Given the description of an element on the screen output the (x, y) to click on. 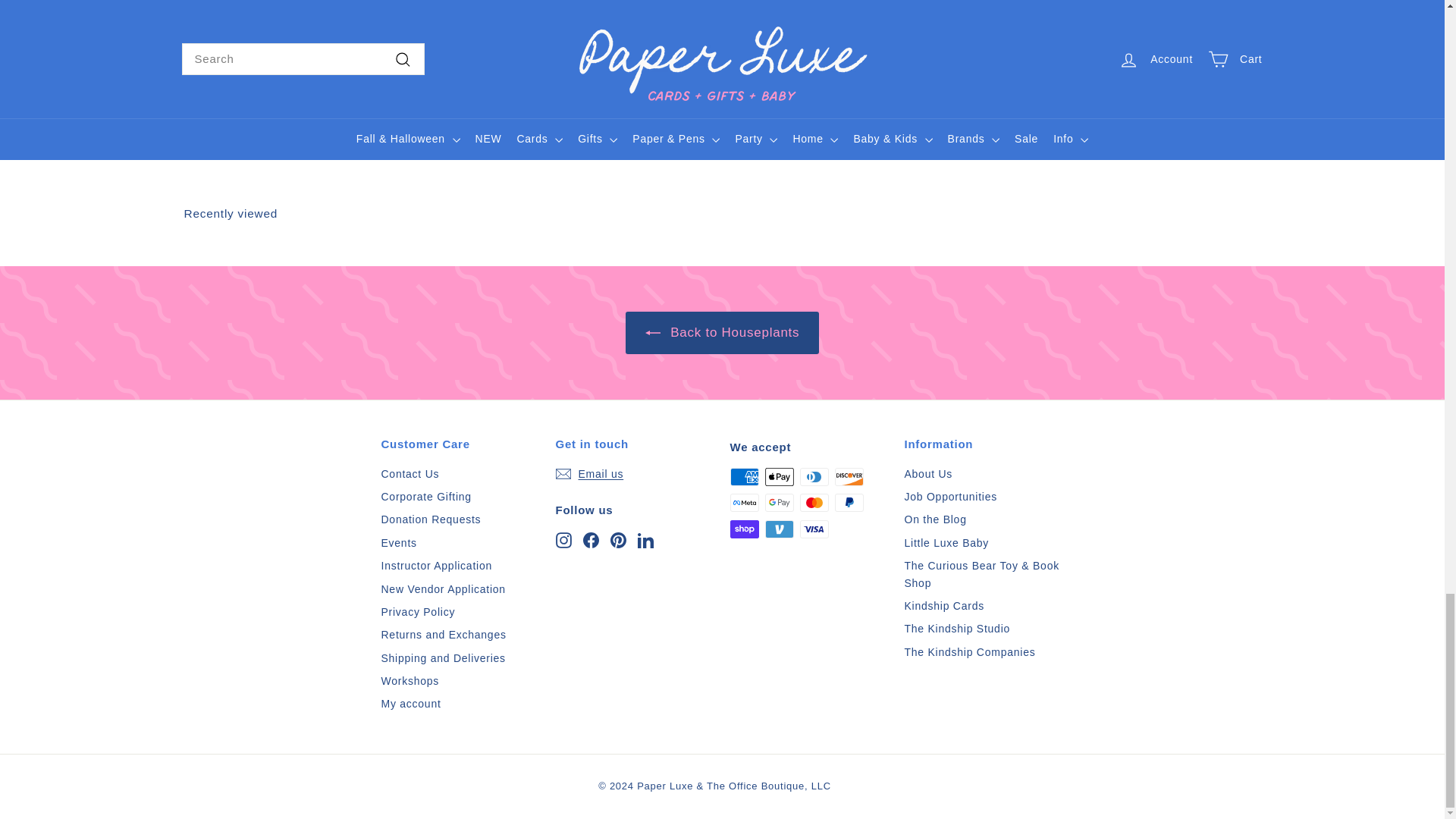
Paper Luxe on Pinterest (618, 538)
Paper Luxe on Instagram (562, 538)
Paper Luxe on Facebook (590, 538)
Paper Luxe on LinkedIn (644, 538)
